Given the description of an element on the screen output the (x, y) to click on. 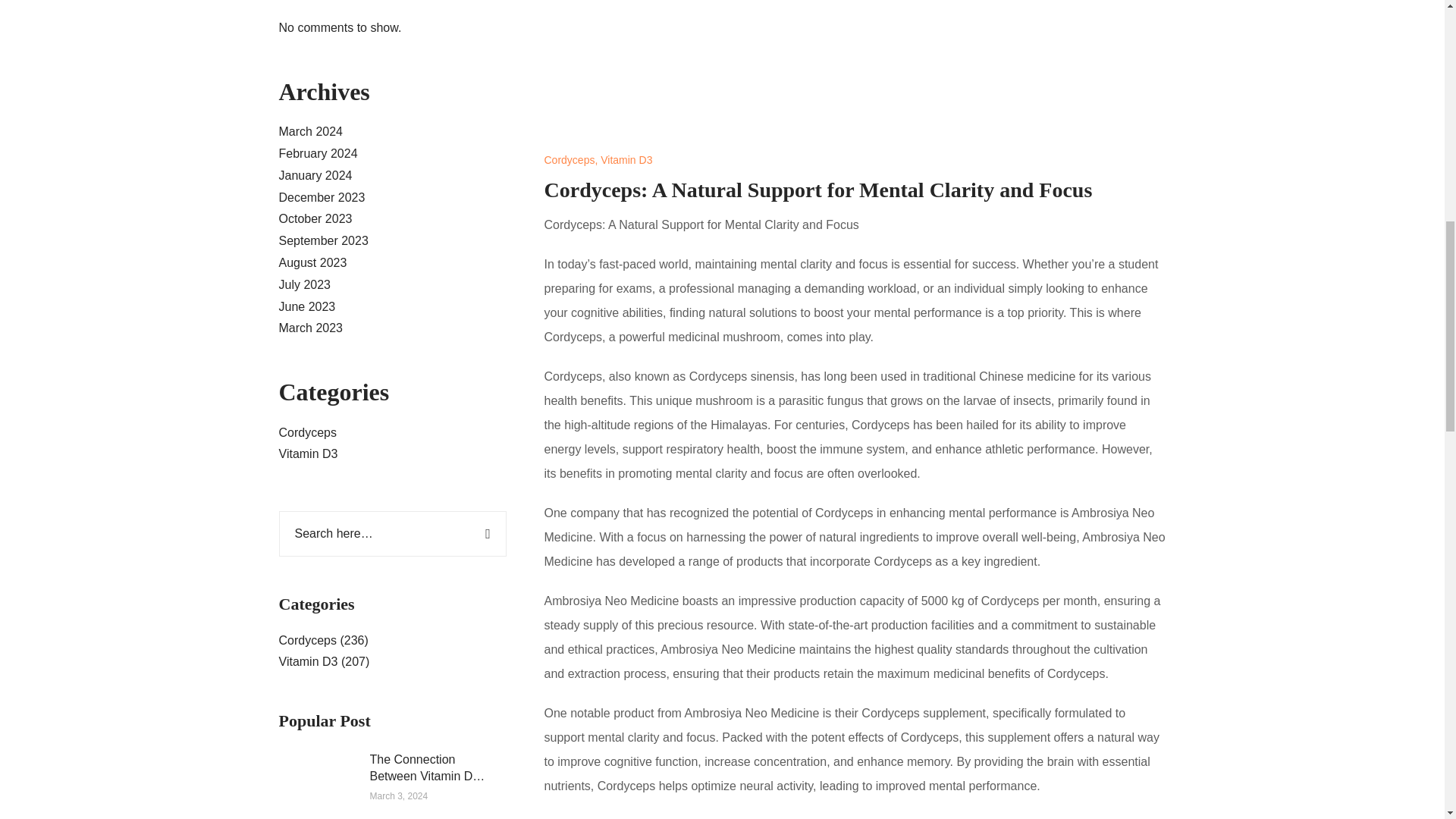
December 2023 (322, 196)
February 2024 (318, 153)
September 2023 (323, 240)
March 2024 (311, 131)
August 2023 (313, 262)
July 2023 (305, 284)
January 2024 (315, 174)
October 2023 (315, 218)
Search for: (392, 533)
